Given the description of an element on the screen output the (x, y) to click on. 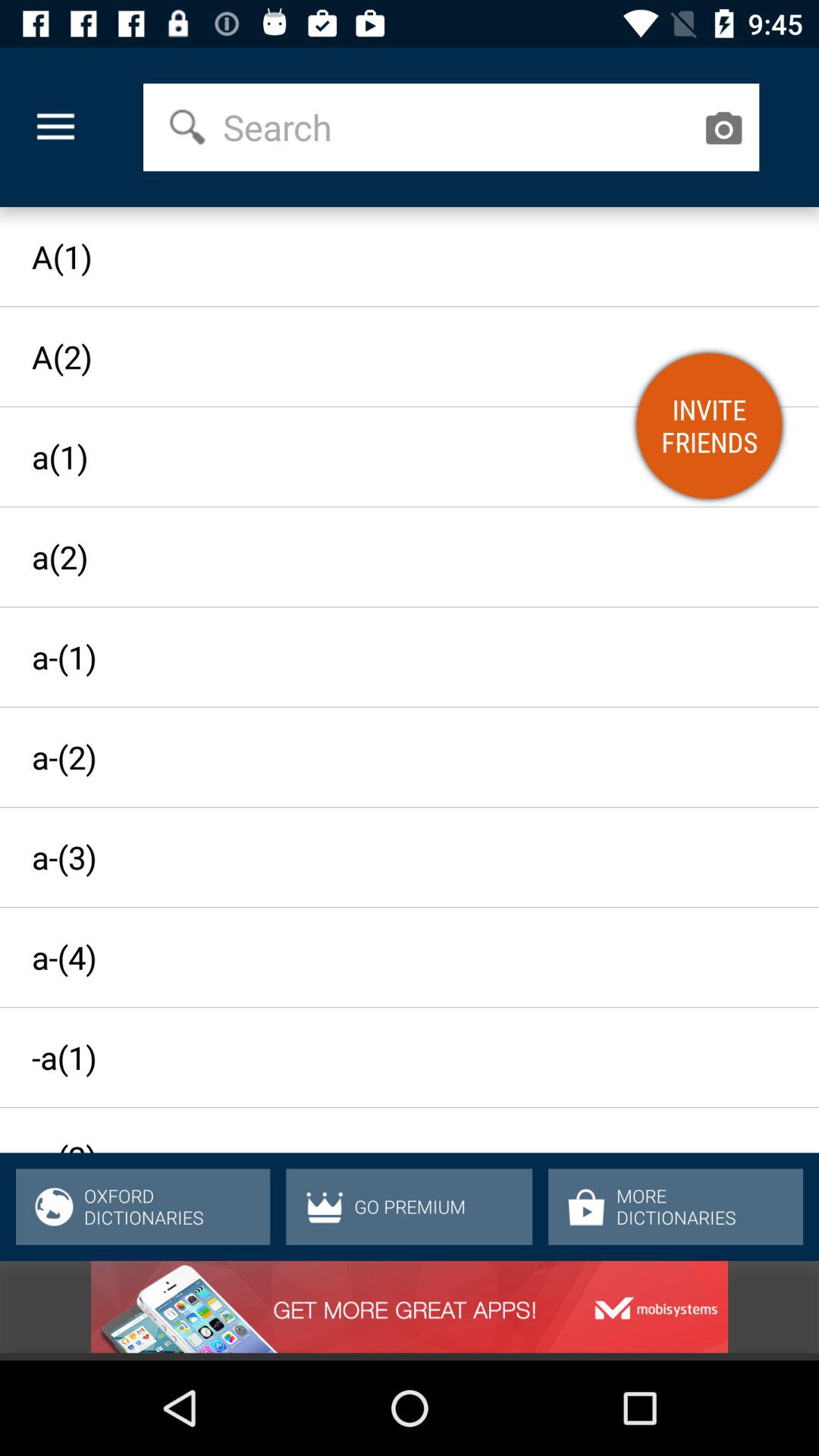
launch the a-(3) icon (395, 857)
